Given the description of an element on the screen output the (x, y) to click on. 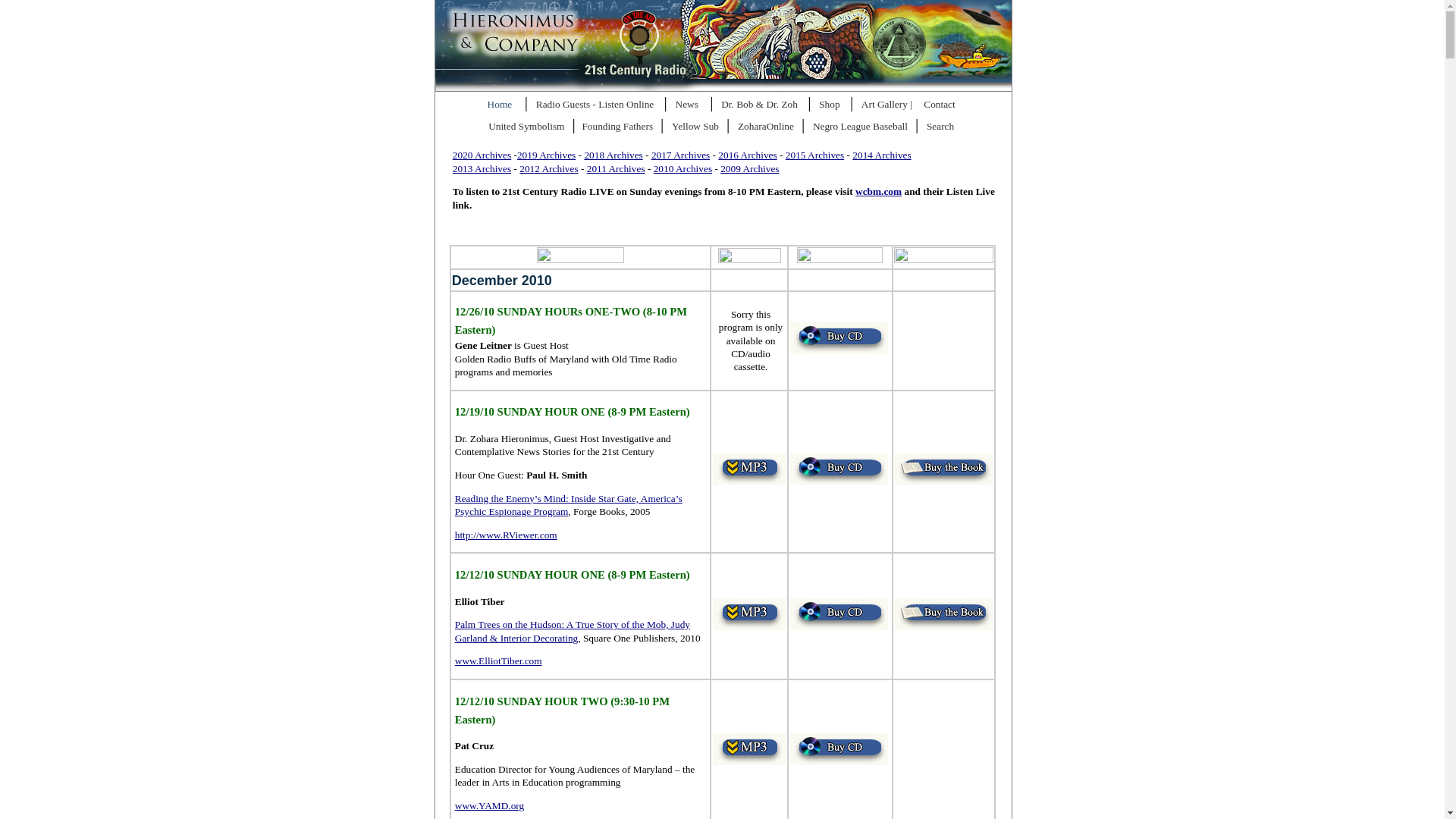
2010 Archives Element type: text (682, 168)
2013 Archives Element type: text (481, 168)
Dr. Bob & Dr. Zoh Element type: text (762, 105)
wcbm.com Element type: text (878, 191)
Radio Guests - Listen Online Element type: text (598, 105)
Negro League Baseball Element type: text (862, 127)
News Element type: text (689, 105)
Search Element type: text (942, 127)
Founding Fathers Element type: text (618, 127)
www.ElliotTiber.com Element type: text (498, 660)
http://www.RViewer.com Element type: text (506, 534)
2017 Archives Element type: text (680, 154)
Home Element type: text (504, 105)
www.YAMD.org Element type: text (489, 805)
Art Gallery | Element type: text (888, 105)
2009 Archives Element type: text (749, 168)
2015 Archives Element type: text (814, 154)
2012 Archives Element type: text (548, 168)
Shop Element type: text (832, 105)
Yellow Sub Element type: text (697, 127)
ZoharaOnline Element type: text (767, 127)
2014 Archives Element type: text (881, 154)
2016 Archives Element type: text (747, 154)
Contact Element type: text (941, 105)
2019 Archives Element type: text (546, 154)
2011 Archives Element type: text (615, 168)
United Symbolism Element type: text (528, 127)
2018 Archives Element type: text (612, 154)
2020 Archives Element type: text (481, 154)
